Given the description of an element on the screen output the (x, y) to click on. 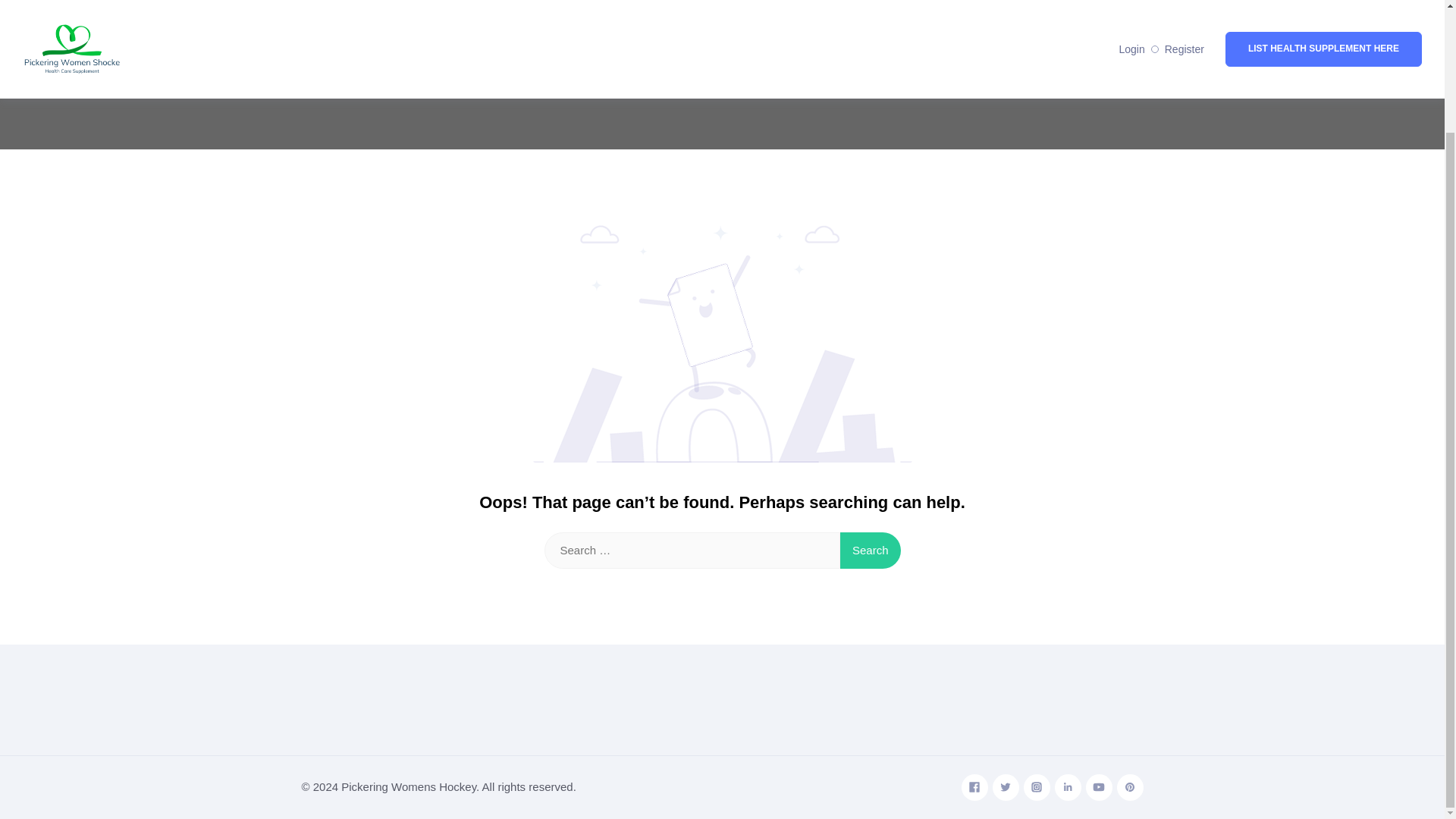
Search (870, 550)
Search (870, 550)
Search (870, 550)
